Given the description of an element on the screen output the (x, y) to click on. 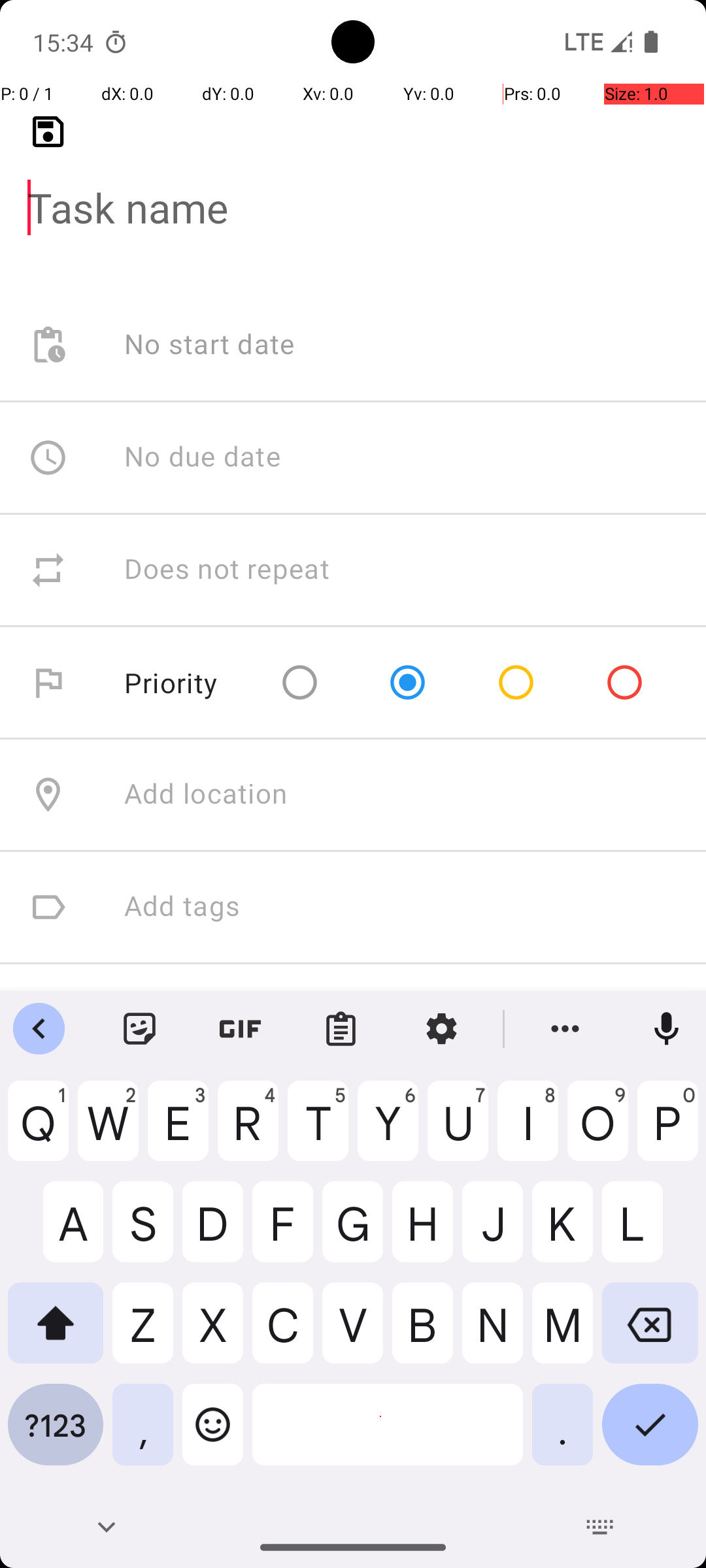
Task name Element type: android.widget.EditText (353, 186)
No due date Element type: android.widget.TextView (202, 457)
No start date Element type: android.widget.TextView (209, 344)
